Given the description of an element on the screen output the (x, y) to click on. 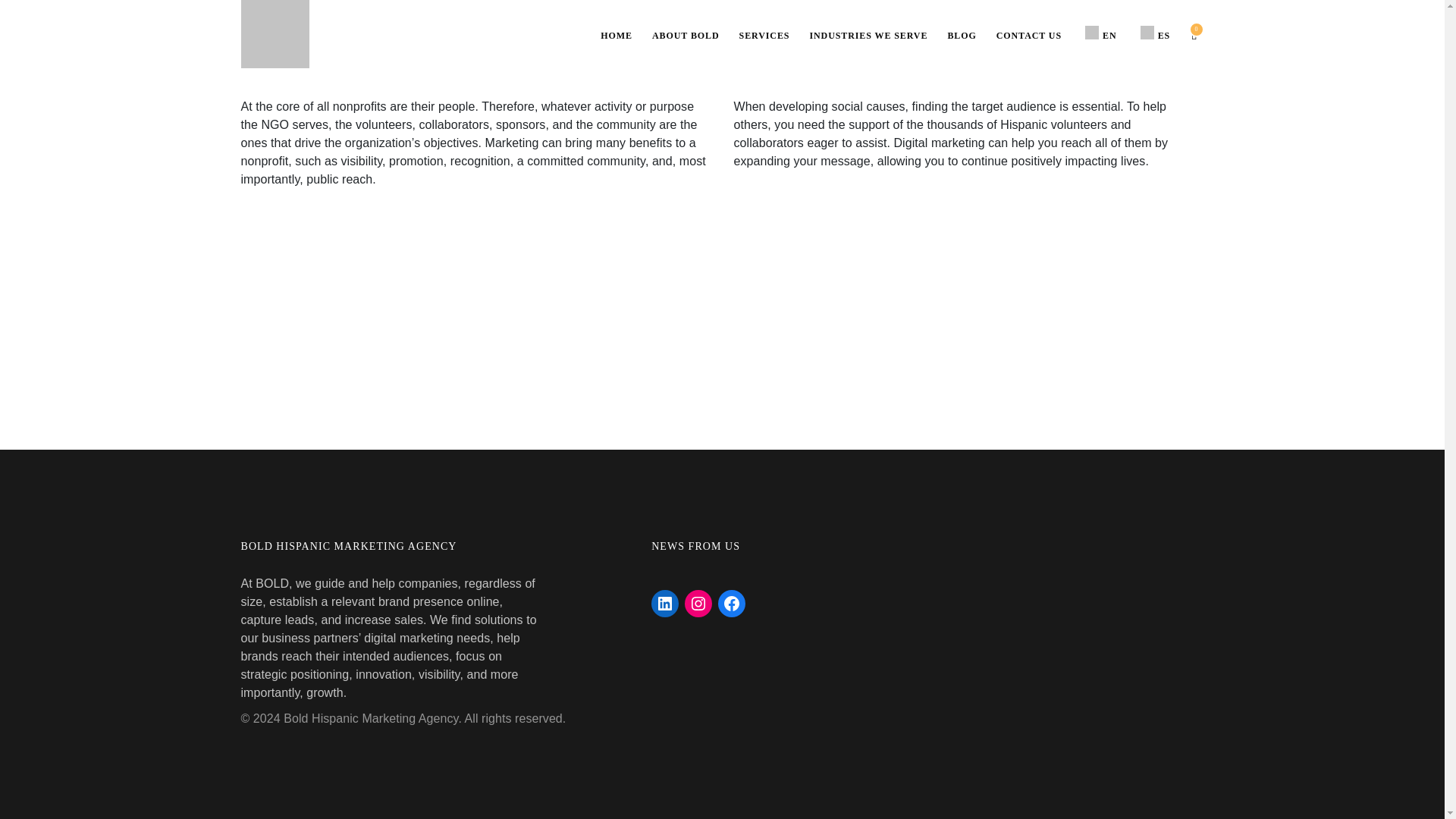
EN (1098, 33)
SERVICES (764, 34)
English (1091, 32)
CONTACT US (1029, 34)
INDUSTRIES WE SERVE (868, 34)
Spanish (1147, 32)
ABOUT BOLD (685, 34)
